Given the description of an element on the screen output the (x, y) to click on. 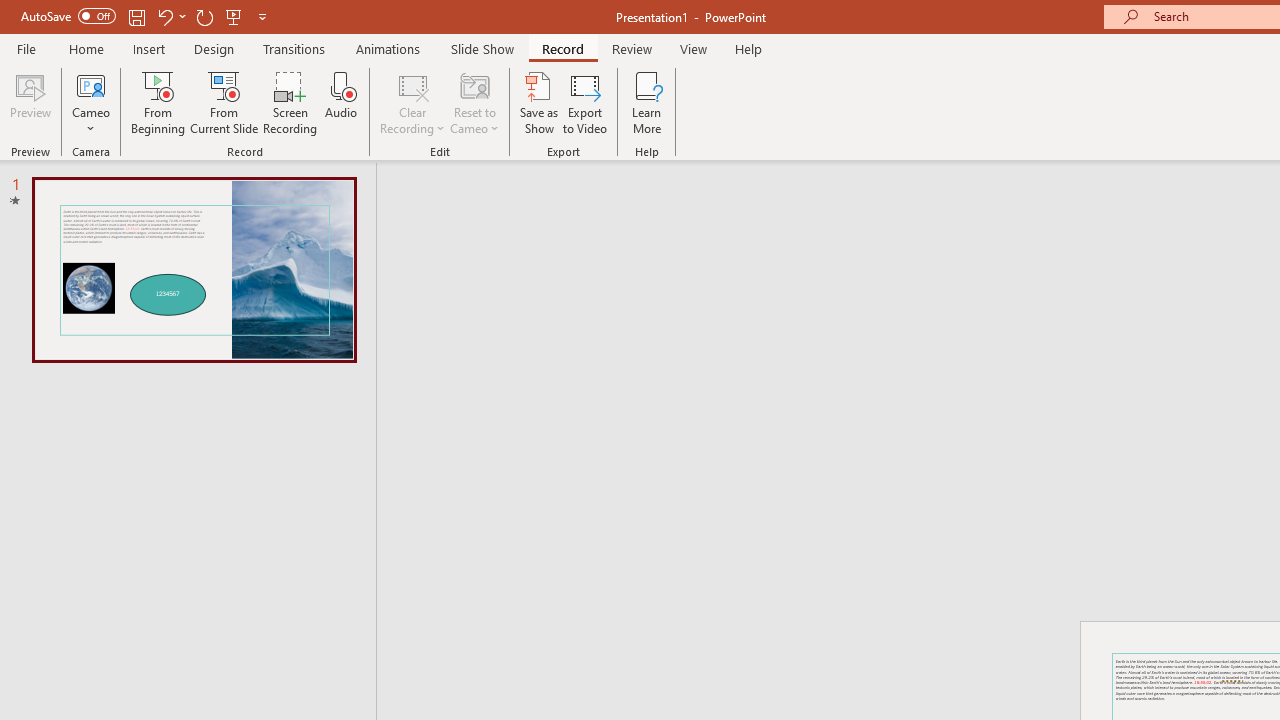
Save as Show (539, 102)
Audio (341, 102)
Learn More (646, 102)
Cameo (91, 102)
Preview (30, 102)
From Beginning... (158, 102)
